Given the description of an element on the screen output the (x, y) to click on. 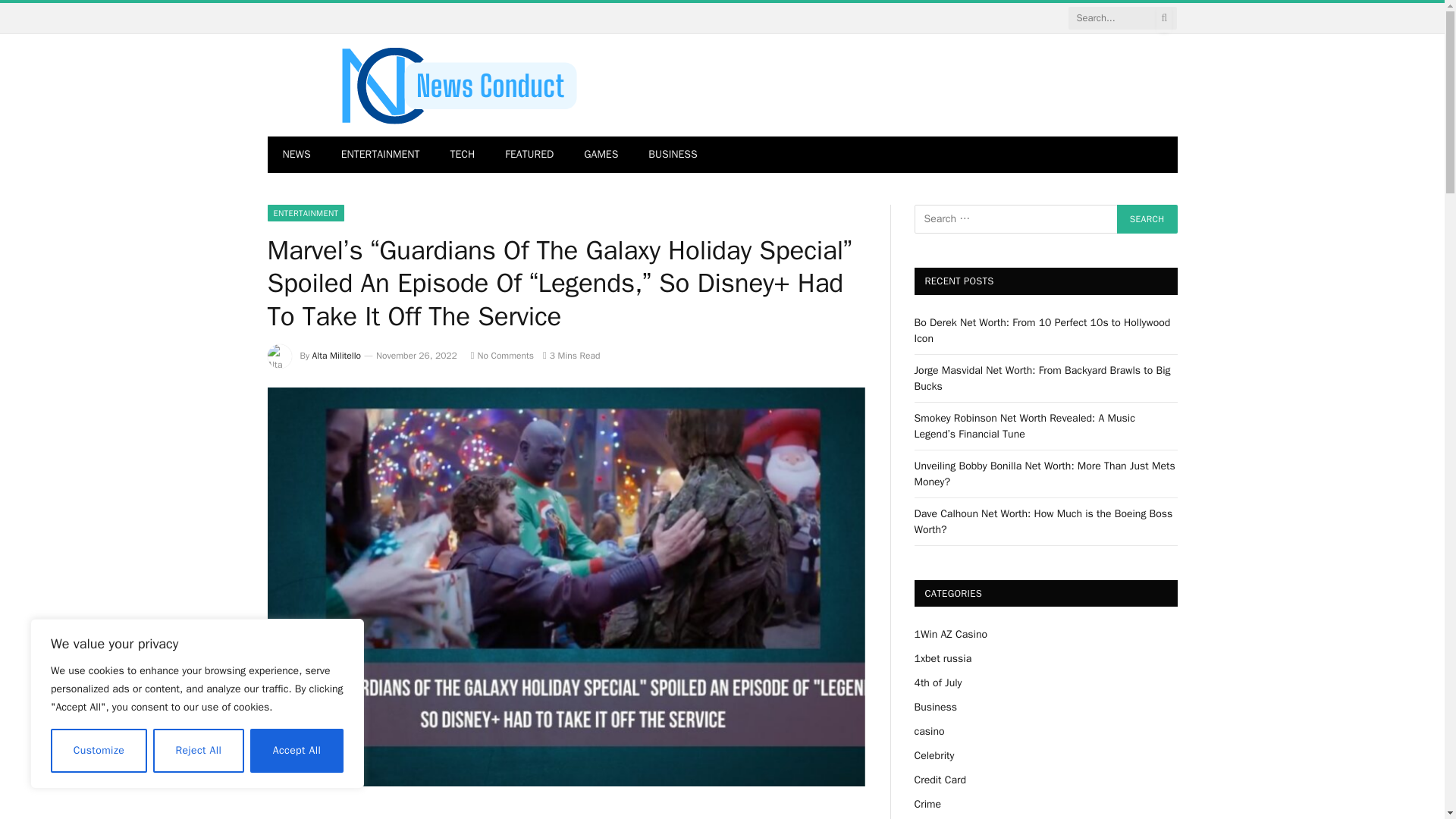
BUSINESS (672, 154)
News Conduct (456, 84)
ENTERTAINMENT (380, 154)
Search (1146, 218)
No Comments (502, 355)
Reject All (198, 750)
TECH (462, 154)
NEWS (295, 154)
Customize (98, 750)
Search (1146, 218)
Posts by Alta Militello (337, 355)
ENTERTAINMENT (304, 212)
FEATURED (529, 154)
Alta Militello (337, 355)
